Given the description of an element on the screen output the (x, y) to click on. 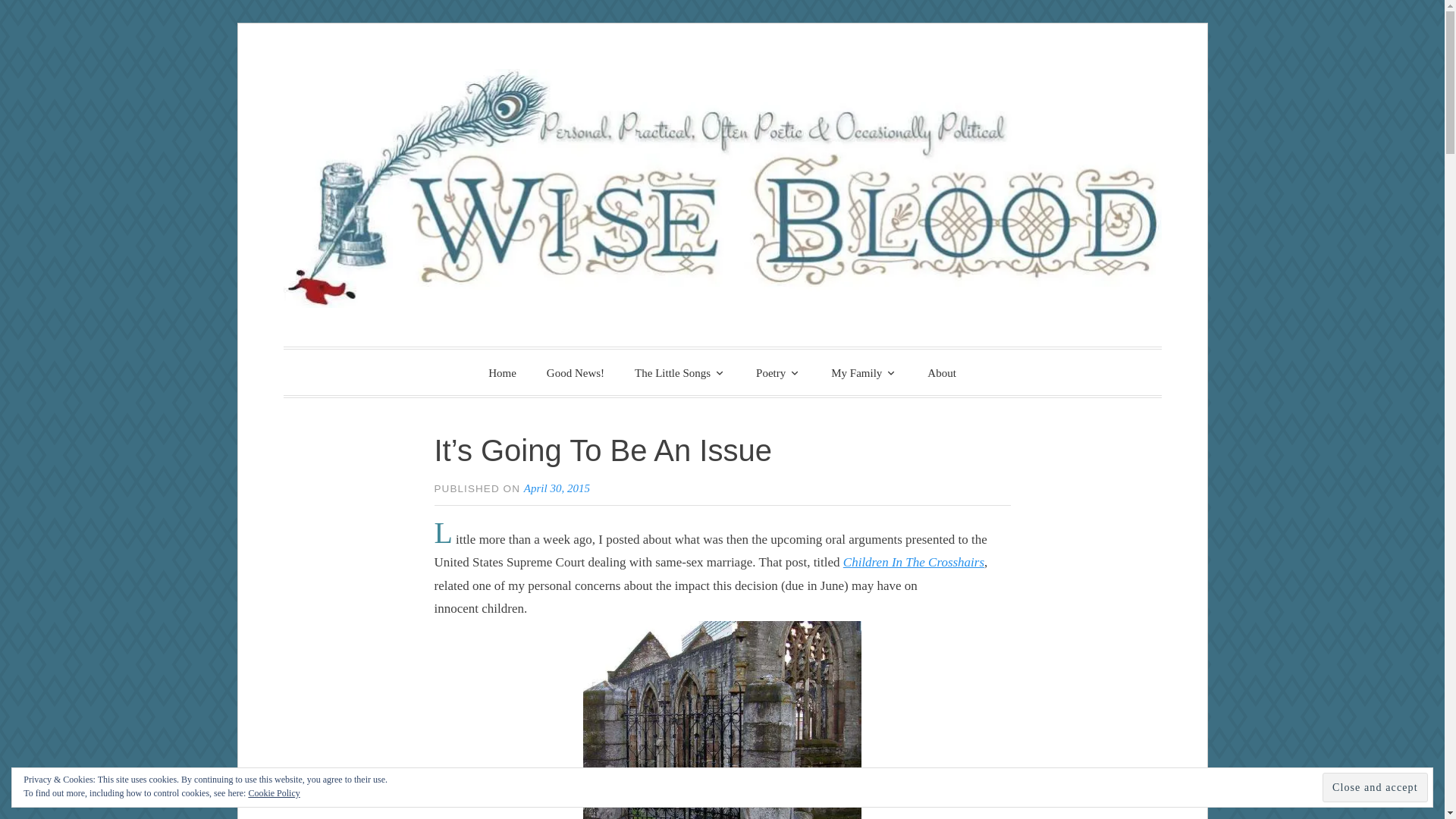
The Little Songs (680, 371)
Poetry (778, 371)
Close and accept (1375, 787)
Wiseblooding (453, 370)
Good News! (575, 373)
My Family (863, 371)
Children In The Crosshairs (913, 562)
April 30, 2015 (556, 488)
About (941, 373)
